Given the description of an element on the screen output the (x, y) to click on. 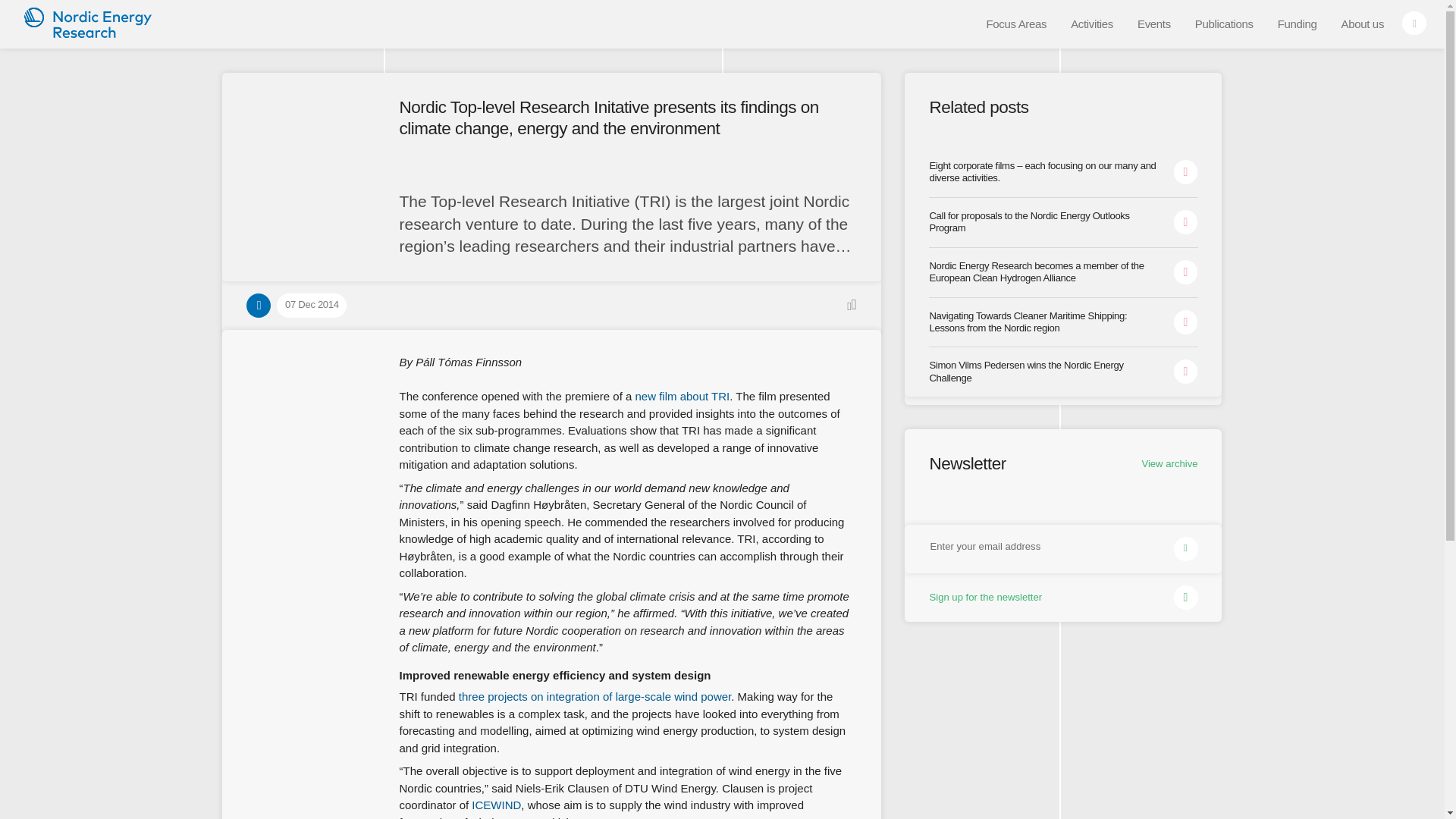
Events (1153, 24)
Publications (1223, 24)
three projects on integration of large-scale wind power (594, 696)
Sign up for the newsletter (1062, 594)
Focus Areas (1016, 24)
Funding (1297, 24)
About us (1362, 24)
new film about TRI (682, 395)
Simon Vilms Pedersen wins the Nordic Energy Challenge (1062, 365)
View archive (1168, 475)
ICEWIND (496, 804)
Activities (1091, 24)
Call for proposals to the Nordic Energy Outlooks Program (1062, 222)
